Given the description of an element on the screen output the (x, y) to click on. 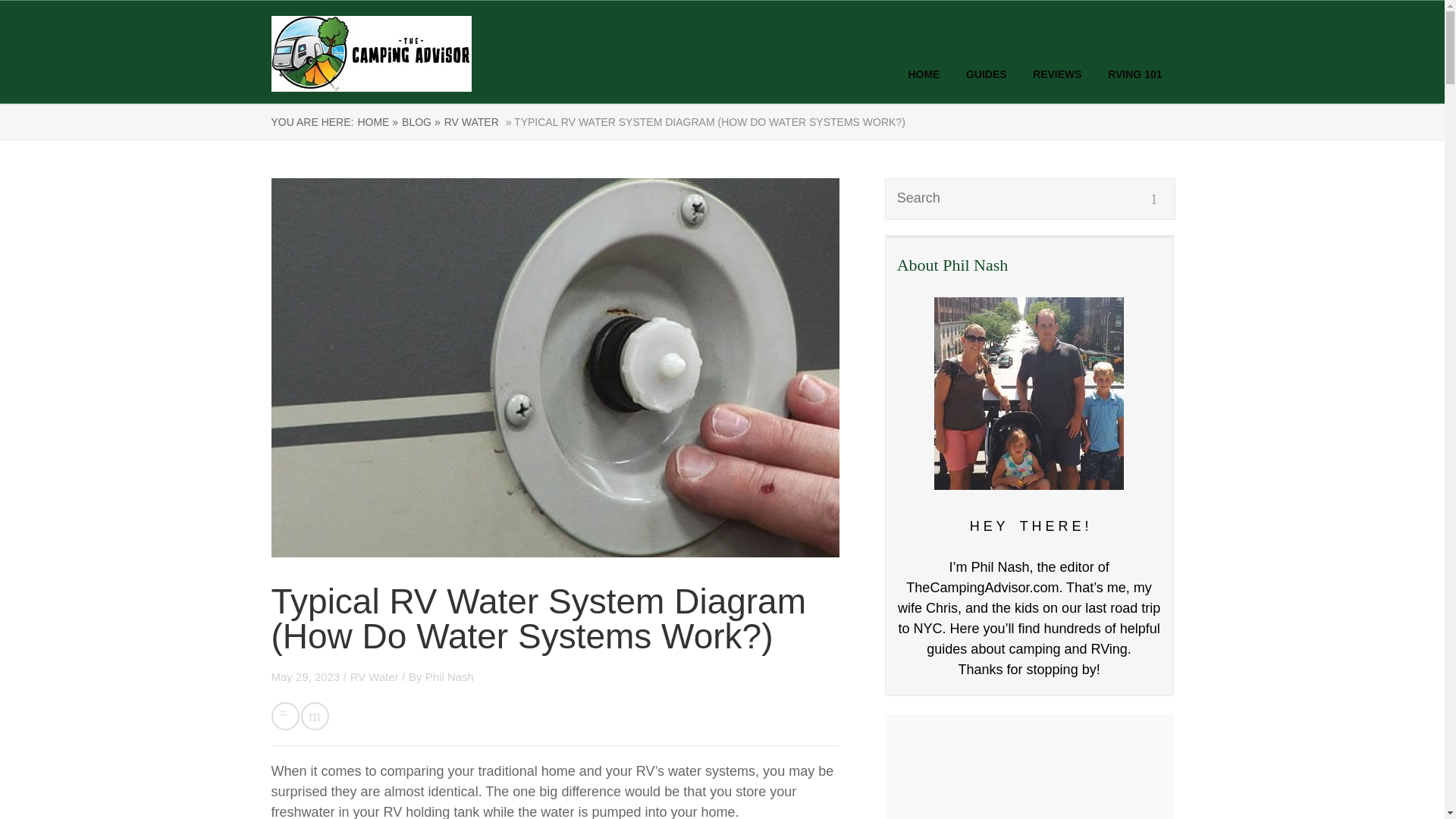
RV WATER (471, 121)
REVIEWS (1056, 73)
HOME (923, 73)
GUIDES (986, 73)
RVING 101 (1134, 73)
